Given the description of an element on the screen output the (x, y) to click on. 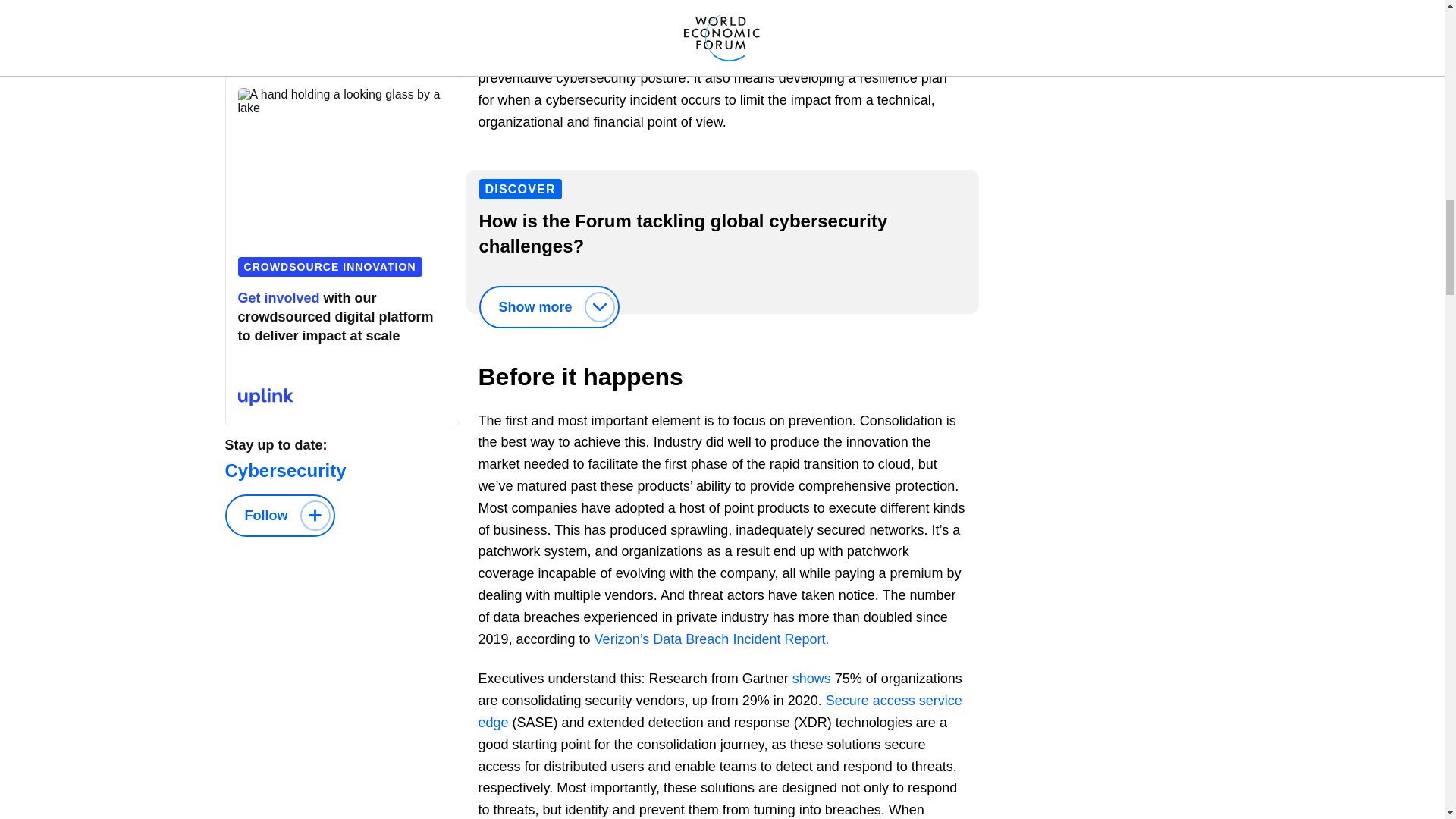
Follow (279, 515)
Show more (549, 306)
Secure access service edge (718, 711)
shows (811, 678)
